Given the description of an element on the screen output the (x, y) to click on. 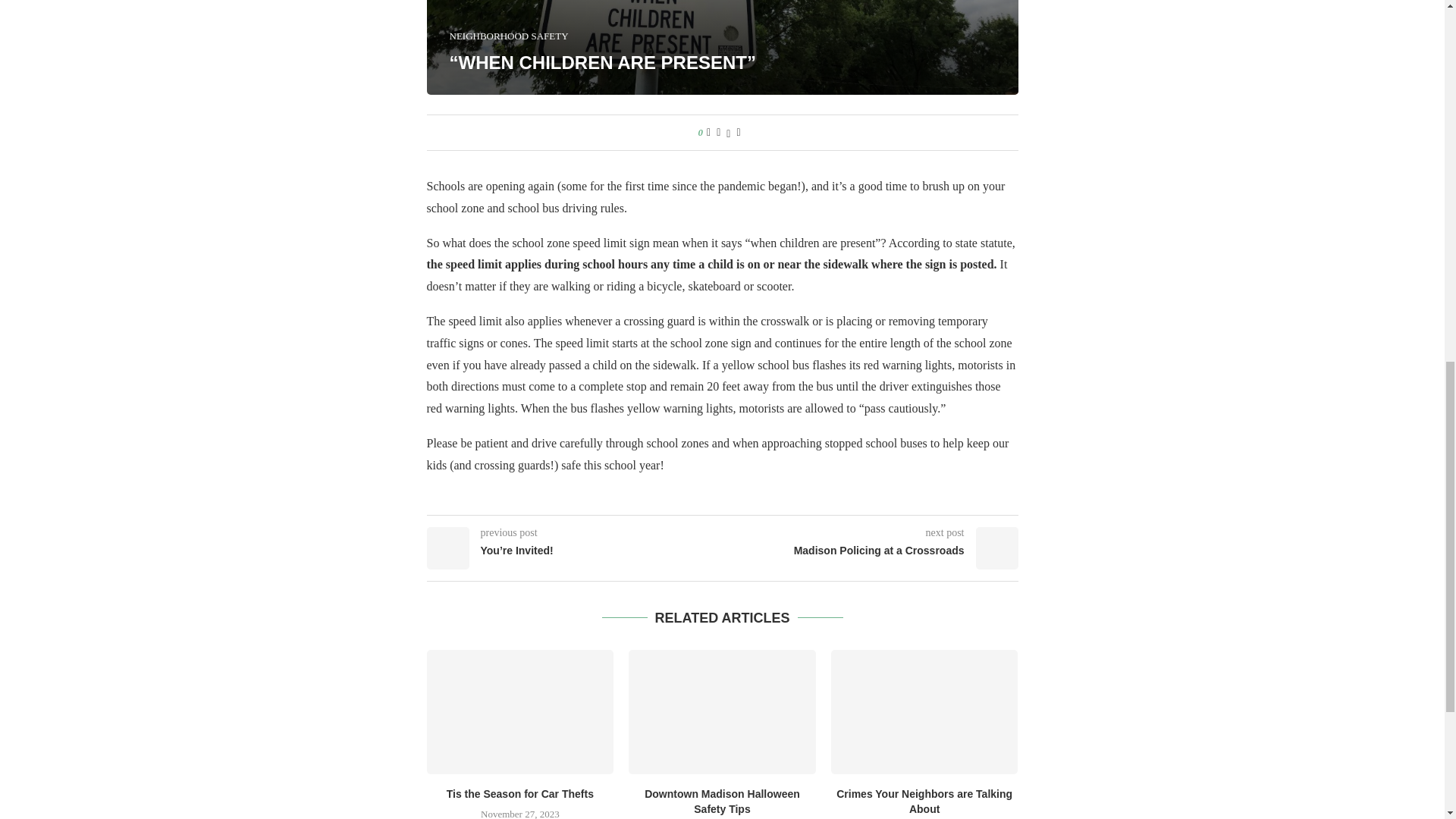
Tis the Season for Car Thefts (520, 793)
Madison Policing at a Crossroads (869, 550)
Downtown Madison Halloween Safety Tips (722, 800)
Downtown Madison Halloween Safety Tips (721, 711)
Crimes Your Neighbors are Talking About (923, 800)
Tis the Season for Car Thefts (519, 711)
NEIGHBORHOOD SAFETY (507, 36)
Crimes Your Neighbors are Talking About (924, 711)
